Given the description of an element on the screen output the (x, y) to click on. 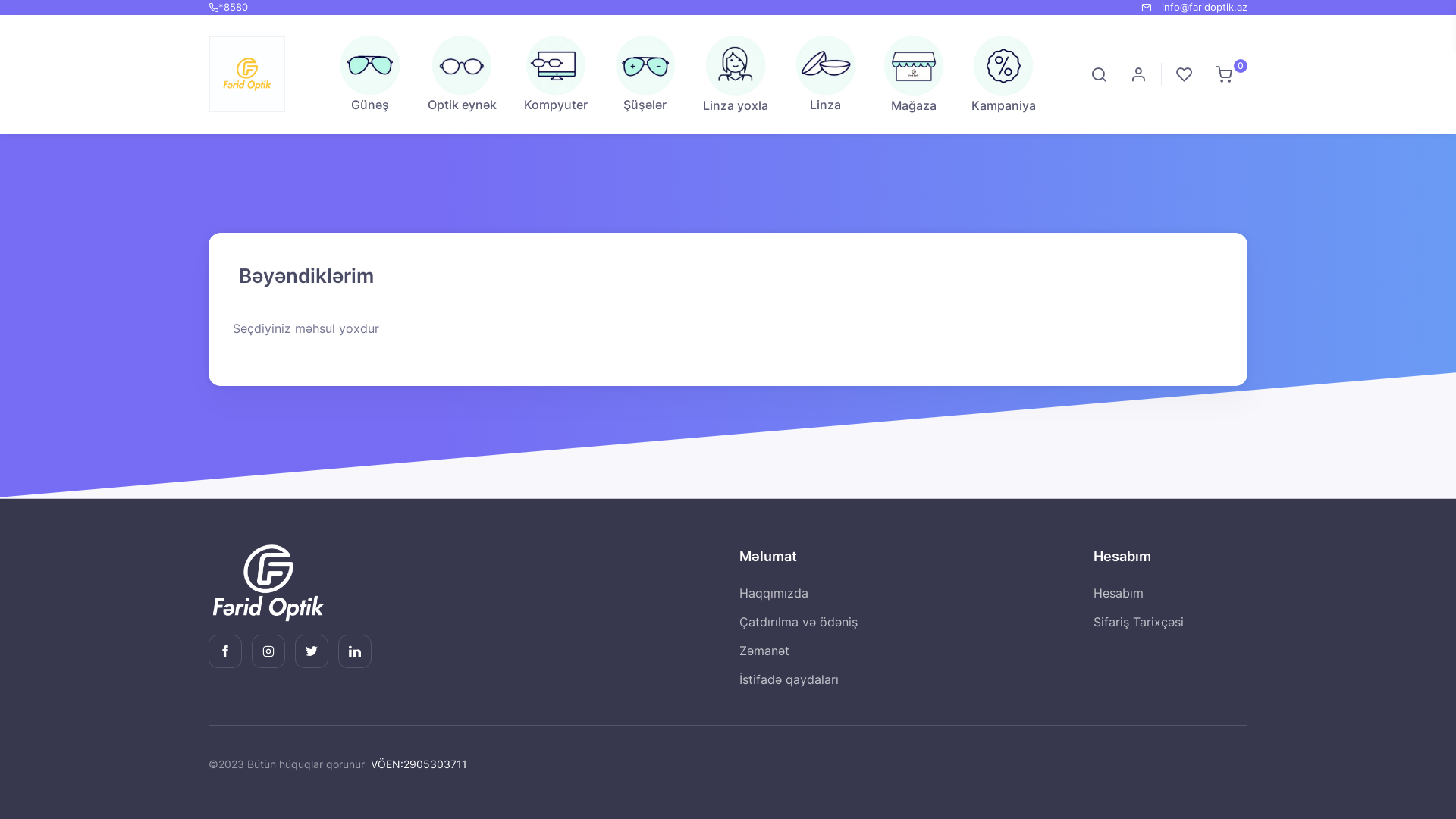
Linza yoxla Element type: text (735, 74)
Kampaniya Element type: text (1003, 74)
0 Element type: text (1223, 74)
Linza Element type: text (825, 74)
info@faridoptik.az Element type: text (1204, 6)
Kompyuter Element type: text (555, 74)
